Given the description of an element on the screen output the (x, y) to click on. 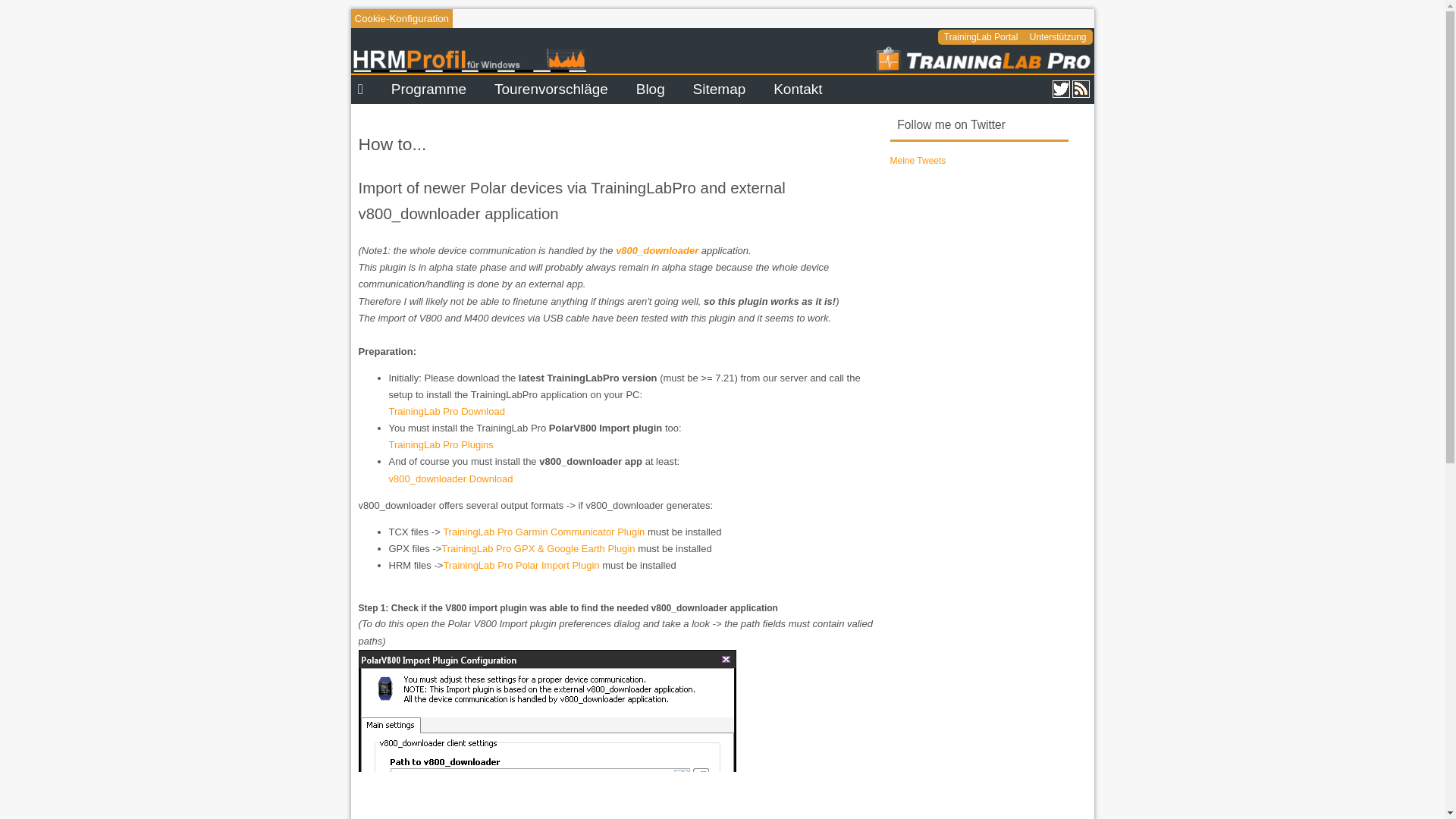
Blog (650, 89)
TrainingLab Portal (985, 36)
Cookie-Konfiguration (400, 18)
Sitemap (719, 89)
